Given the description of an element on the screen output the (x, y) to click on. 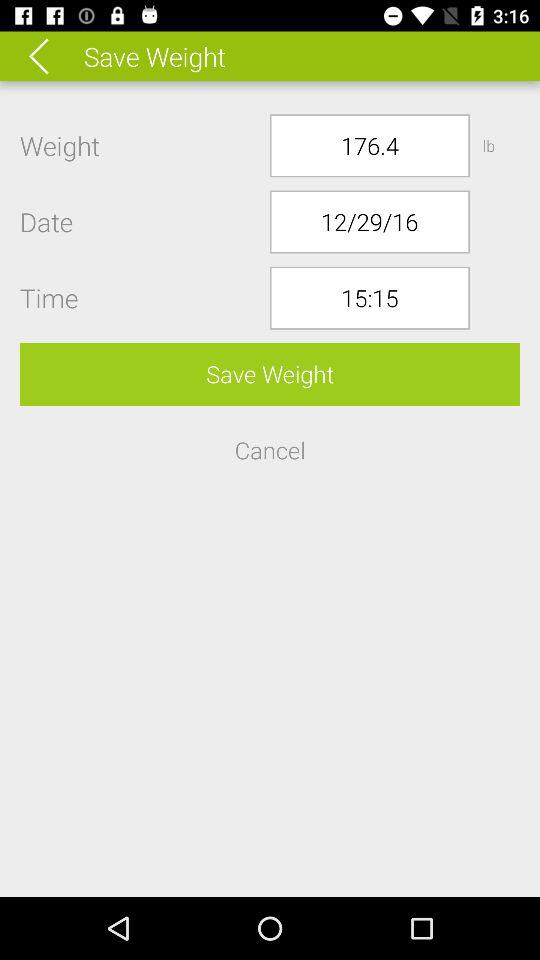
turn on the cancel icon (269, 449)
